Given the description of an element on the screen output the (x, y) to click on. 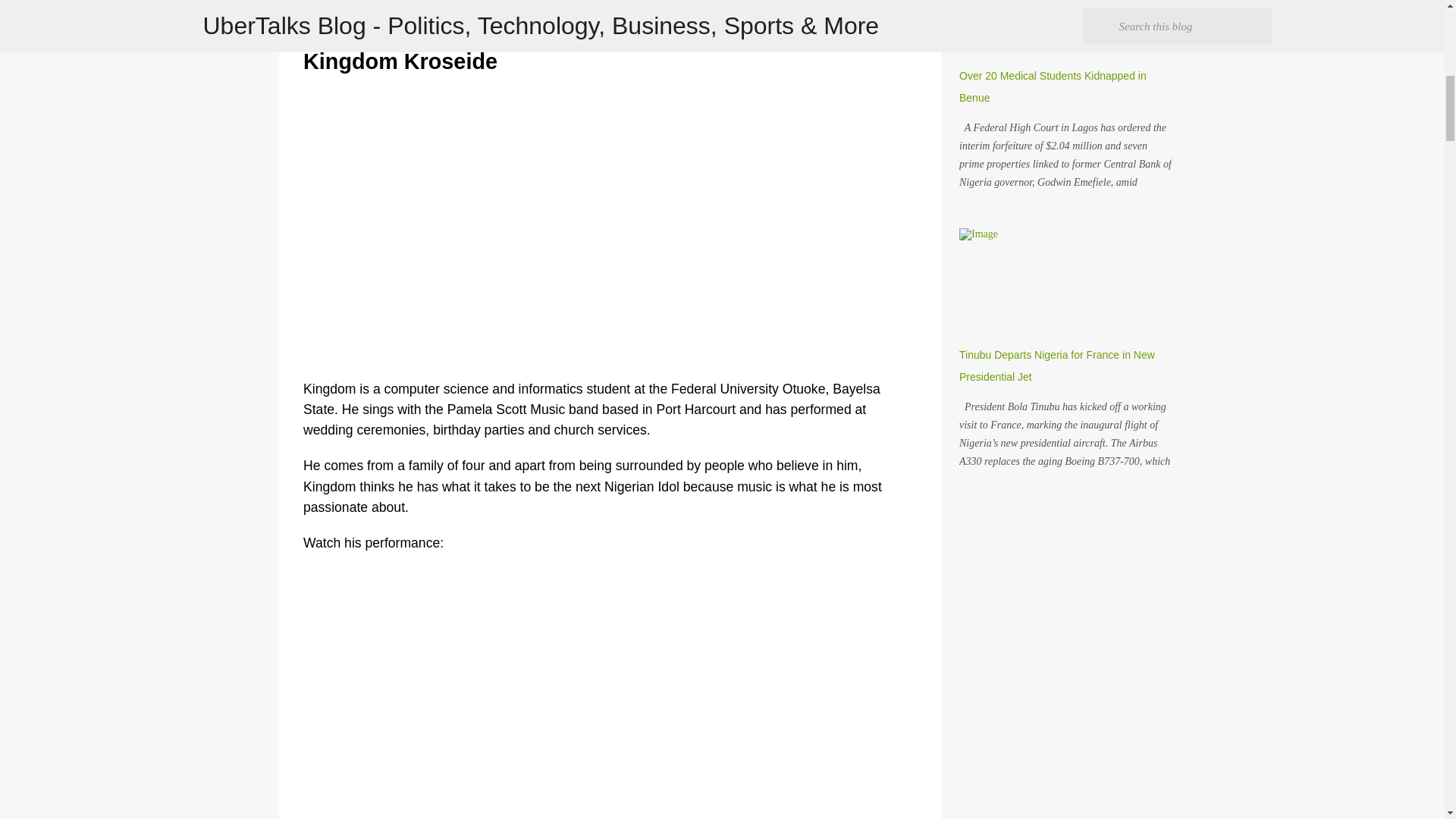
Over 20 Medical Students Kidnapped in Benue (1053, 86)
Kingdom Kroseide (399, 61)
YouTube video player (545, 220)
Tinubu Departs Nigeria for France in New Presidential Jet (1056, 365)
YouTube video player (545, 693)
